Given the description of an element on the screen output the (x, y) to click on. 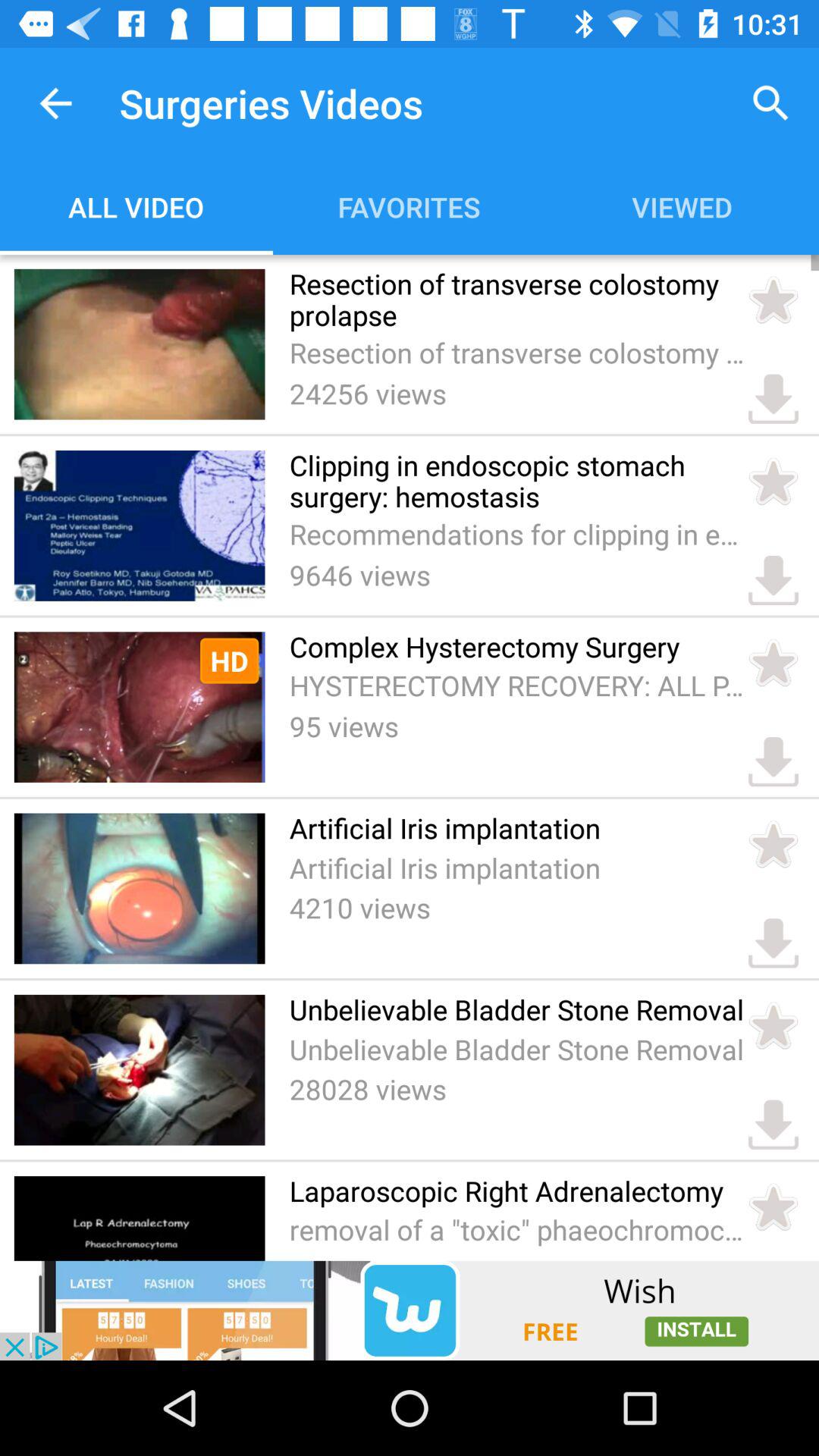
go to wish advertisement (409, 1310)
